Given the description of an element on the screen output the (x, y) to click on. 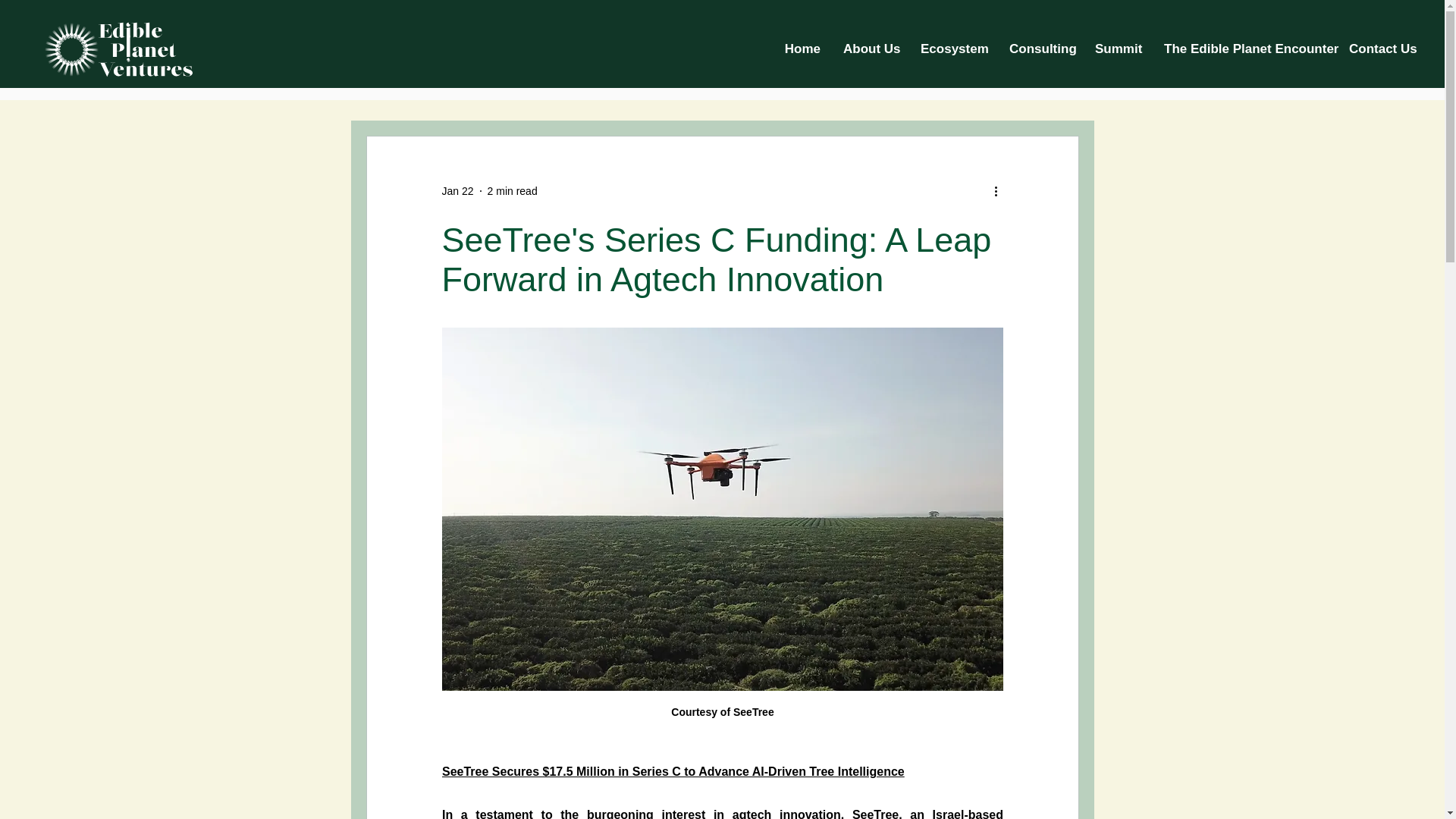
2 min read (512, 191)
Contact Us (1381, 48)
Jan 22 (457, 191)
Home (801, 48)
Ecosystem (952, 48)
The Edible Planet Encounter (1245, 48)
About Us (869, 48)
Consulting (1040, 48)
Summit (1118, 48)
